Given the description of an element on the screen output the (x, y) to click on. 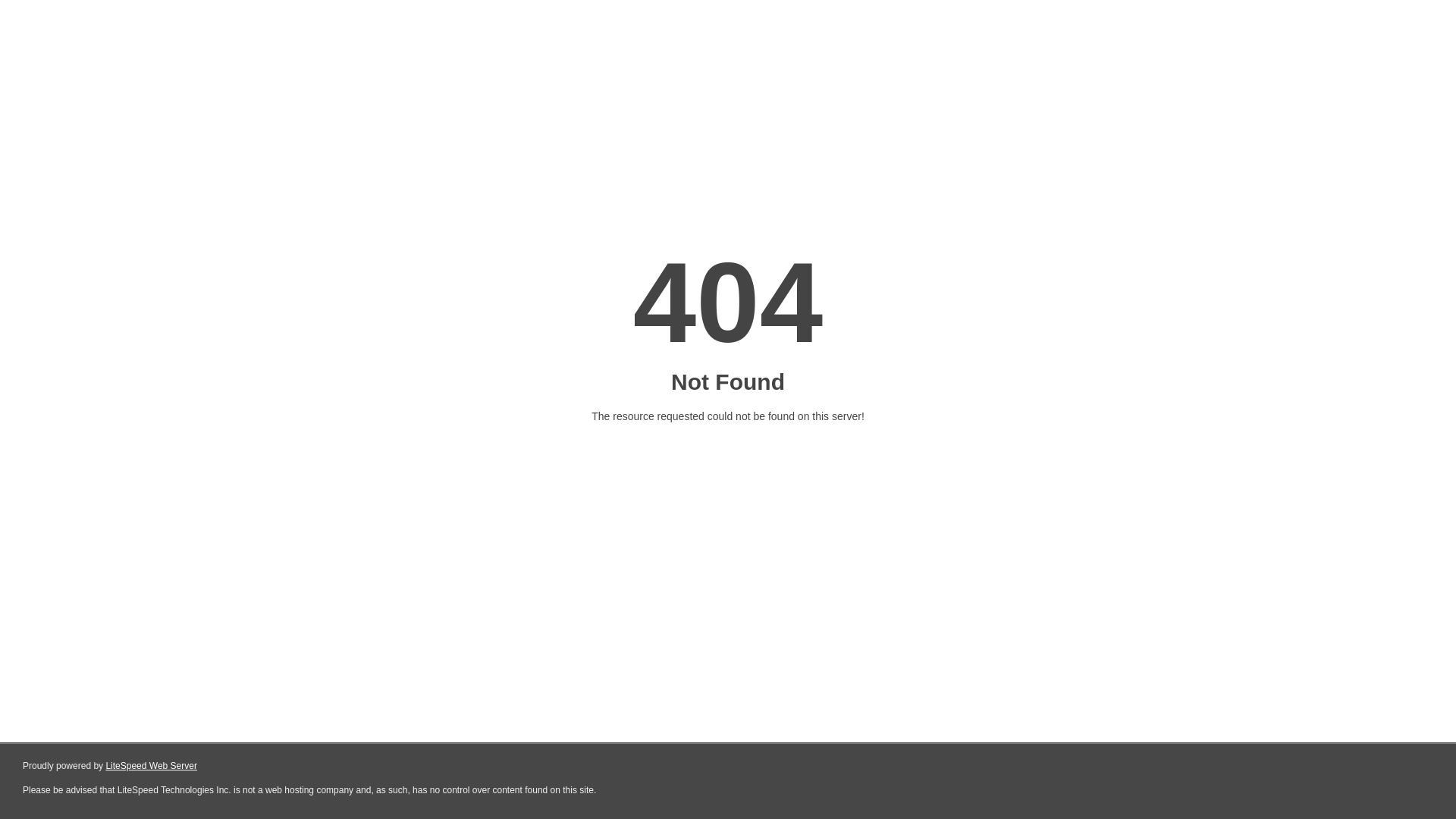
LiteSpeed Web Server Element type: text (151, 765)
